Given the description of an element on the screen output the (x, y) to click on. 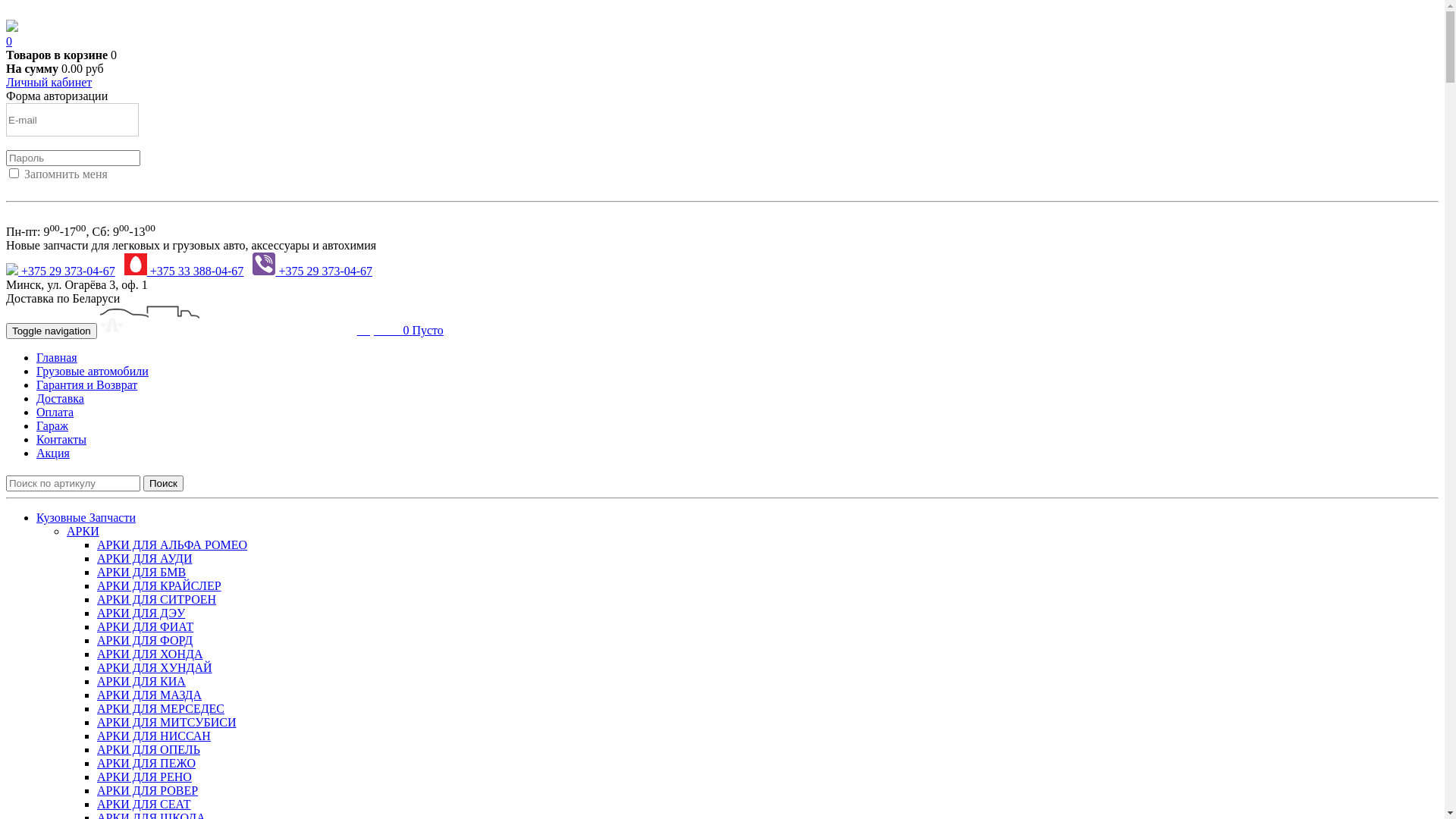
0 Element type: text (9, 40)
+375 29 373-04-67 Element type: text (60, 270)
+375 29 373-04-67 Element type: text (312, 270)
Toggle navigation Element type: text (51, 330)
+375 33 388-04-67 Element type: text (184, 270)
